Given the description of an element on the screen output the (x, y) to click on. 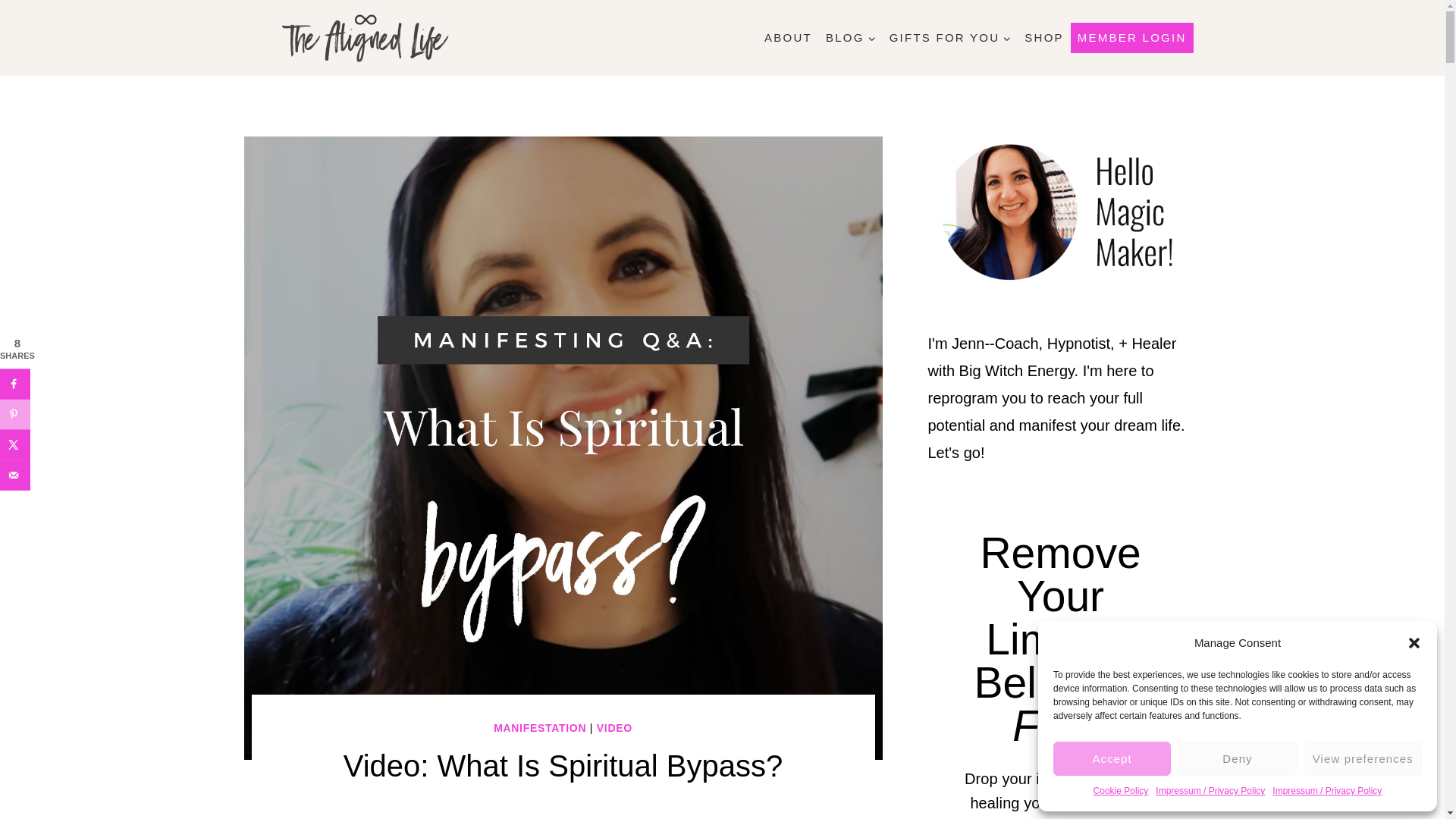
View preferences (1363, 758)
ABOUT (787, 38)
Deny (1236, 758)
BLOG (850, 38)
Accept (1111, 758)
Share on Facebook (15, 383)
GIFTS FOR YOU (949, 38)
VIDEO (613, 727)
MANIFESTATION (539, 727)
Save to Pinterest (15, 413)
Cookie Policy (1120, 791)
SHOP (1043, 38)
MEMBER LOGIN (1131, 38)
